Given the description of an element on the screen output the (x, y) to click on. 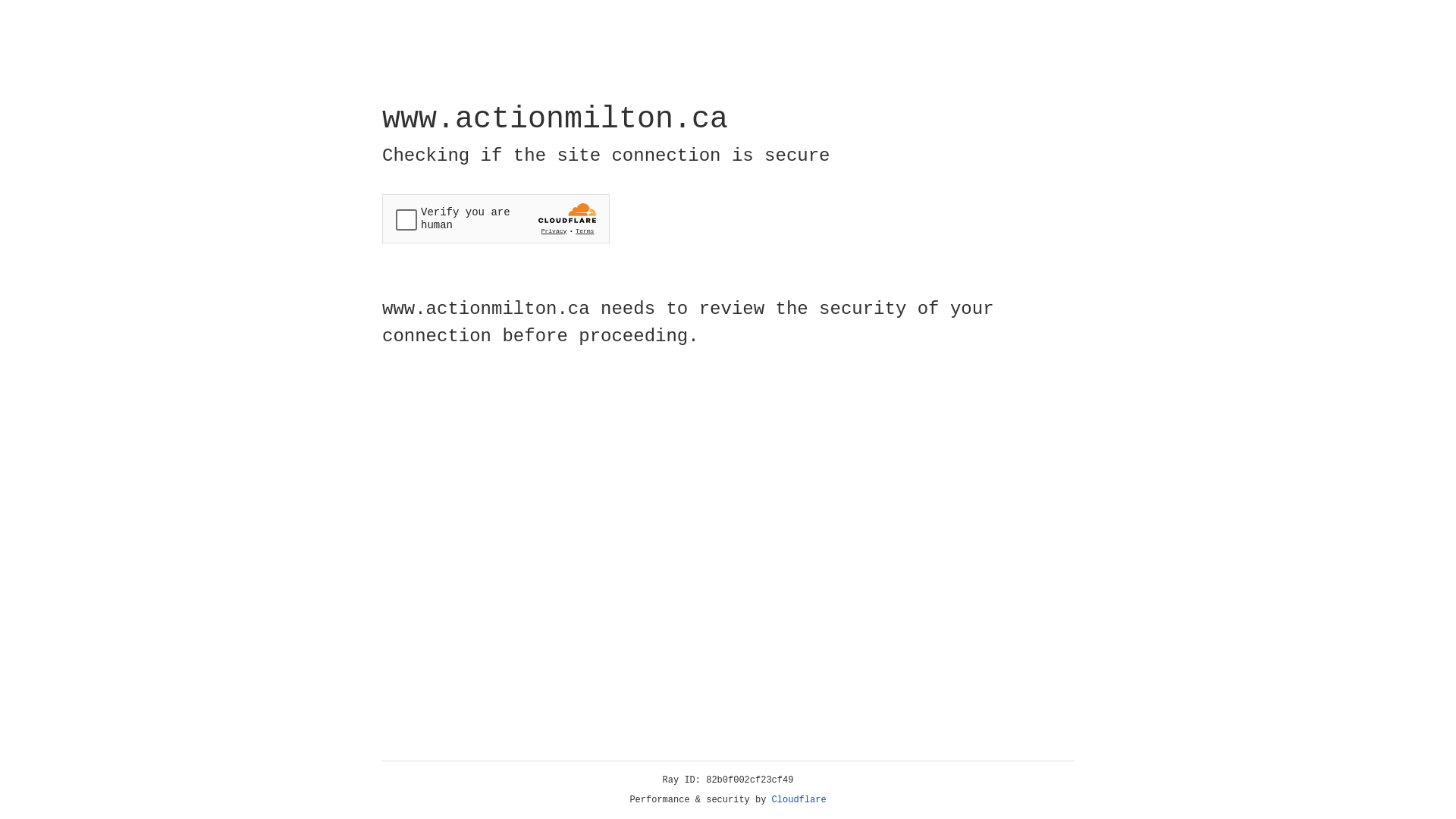
Widget containing a Cloudflare security challenge Element type: hover (495, 218)
Cloudflare Element type: text (798, 799)
